Given the description of an element on the screen output the (x, y) to click on. 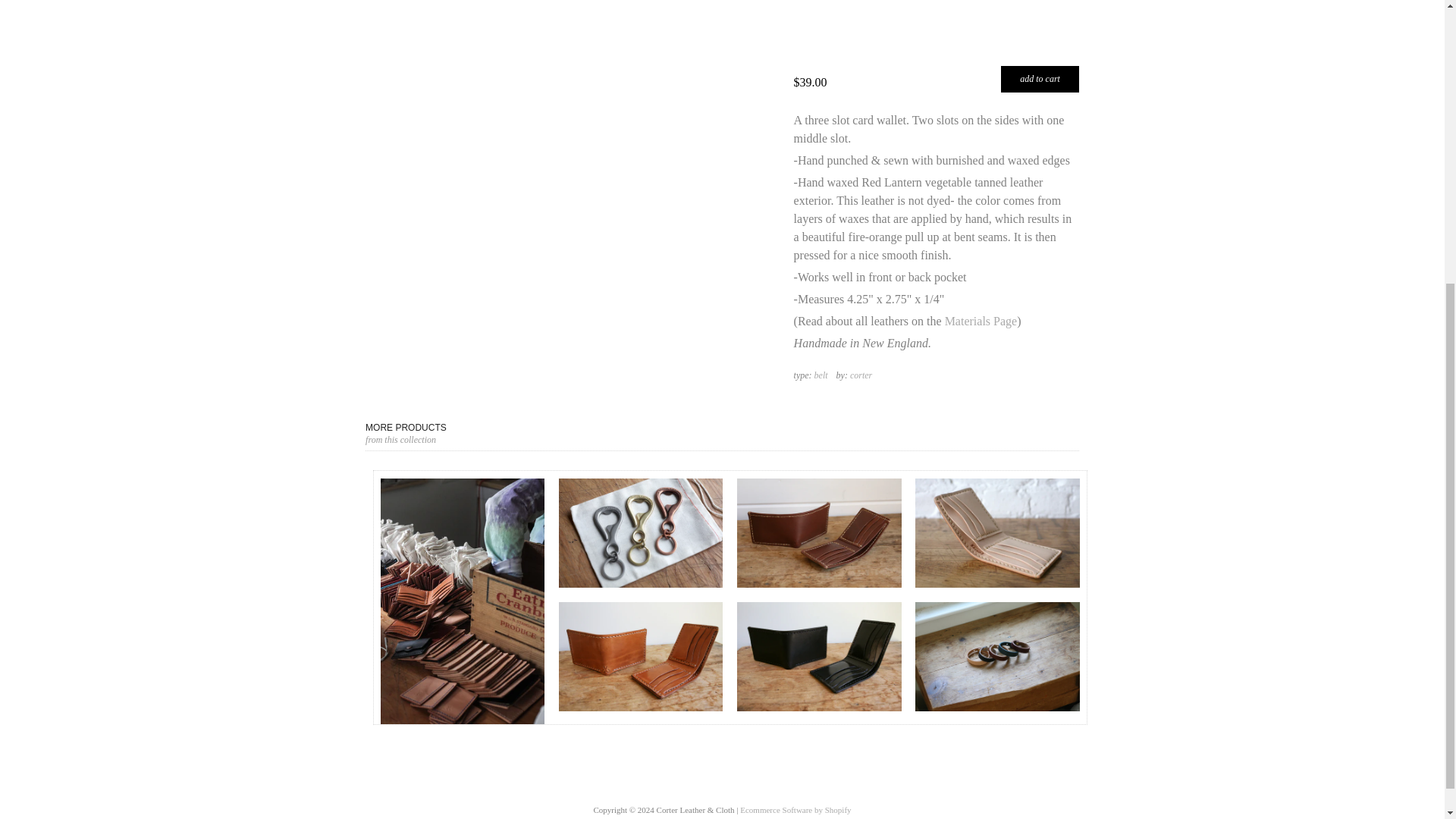
Add to Cart (1039, 79)
Belt (820, 375)
belt (820, 375)
Fall Bracelet Pack (996, 656)
corter (861, 375)
Materials Page (980, 320)
corter (861, 375)
Add to Cart (1039, 79)
